Given the description of an element on the screen output the (x, y) to click on. 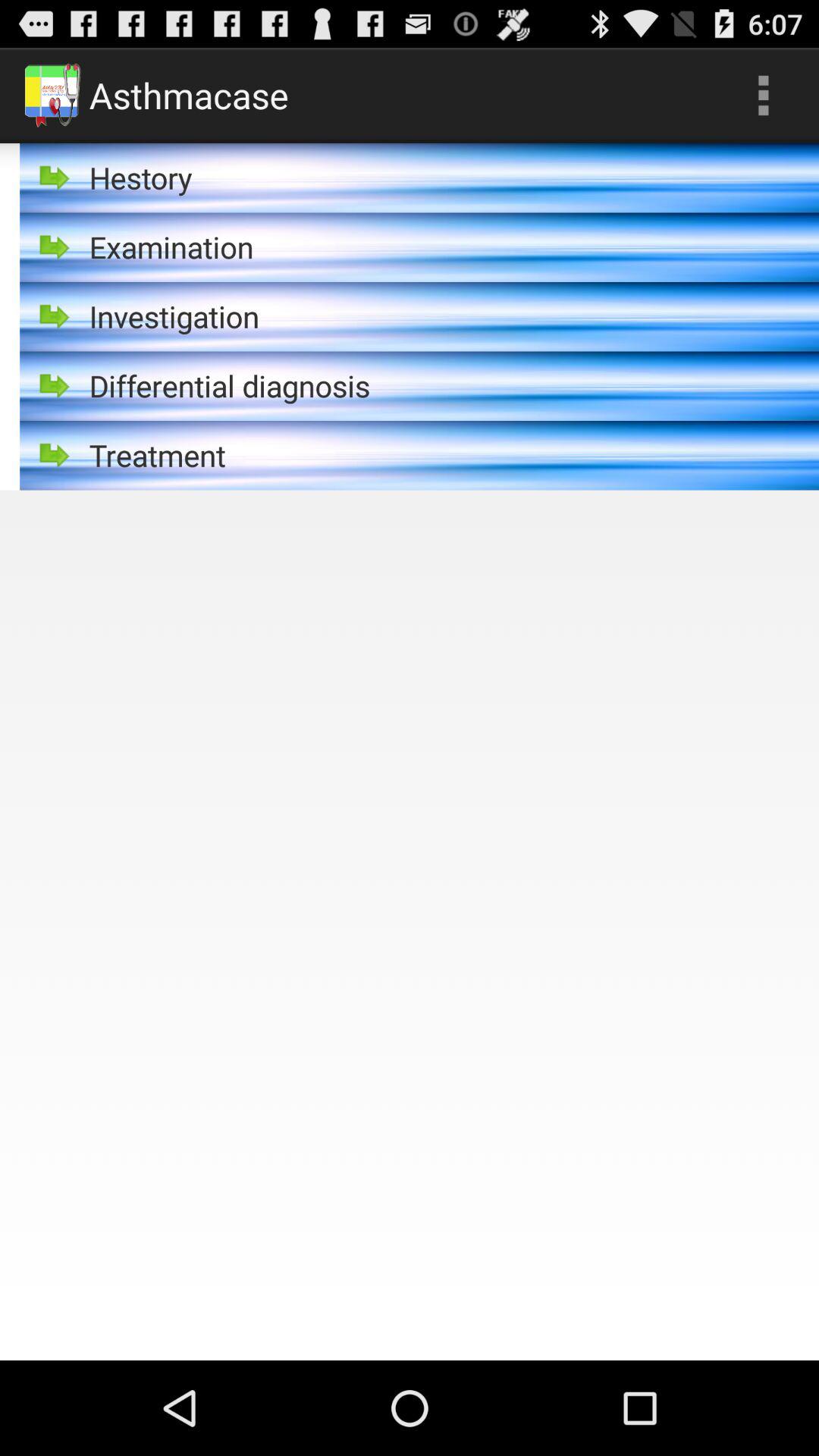
open icon at the top right corner (763, 95)
